Given the description of an element on the screen output the (x, y) to click on. 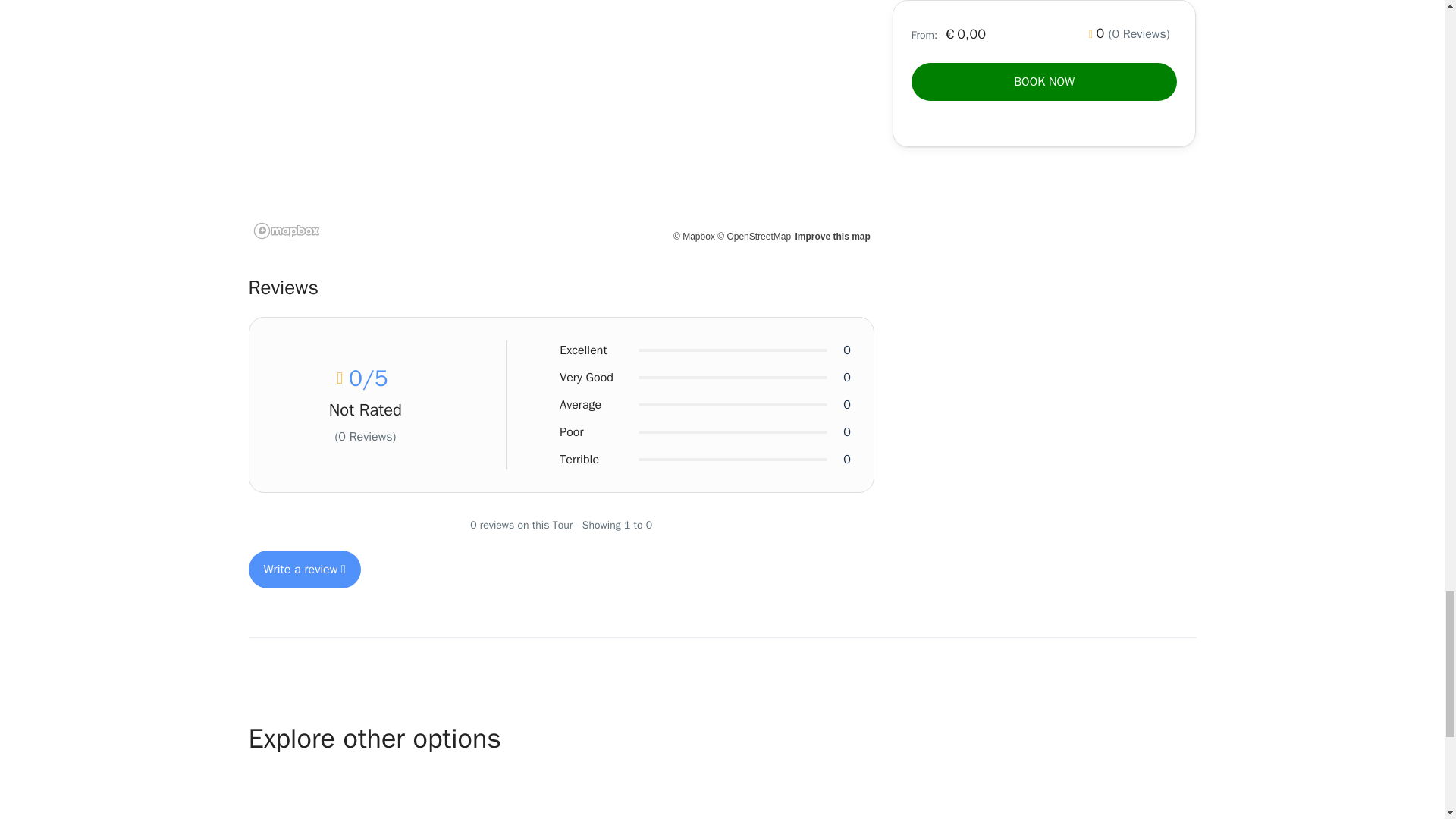
Improve this map (831, 235)
OpenStreetMap (753, 235)
Mapbox (693, 235)
